Given the description of an element on the screen output the (x, y) to click on. 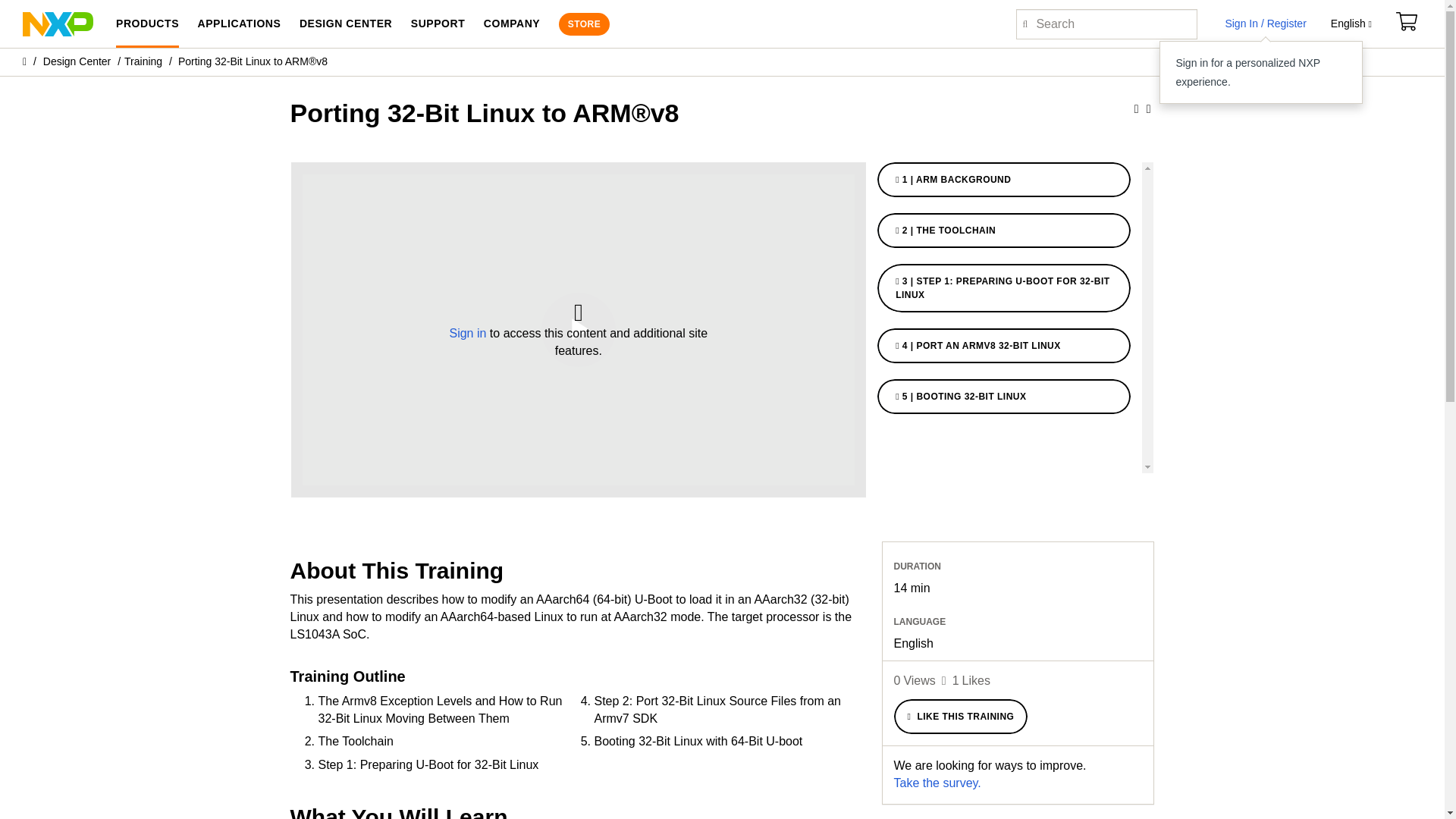
SUPPORT (437, 23)
STORE (584, 24)
COMPANY (511, 23)
APPLICATIONS (238, 23)
PRODUCTS (147, 23)
DESIGN CENTER (345, 23)
English  (1350, 23)
NXP Semiconductor (58, 23)
